Given the description of an element on the screen output the (x, y) to click on. 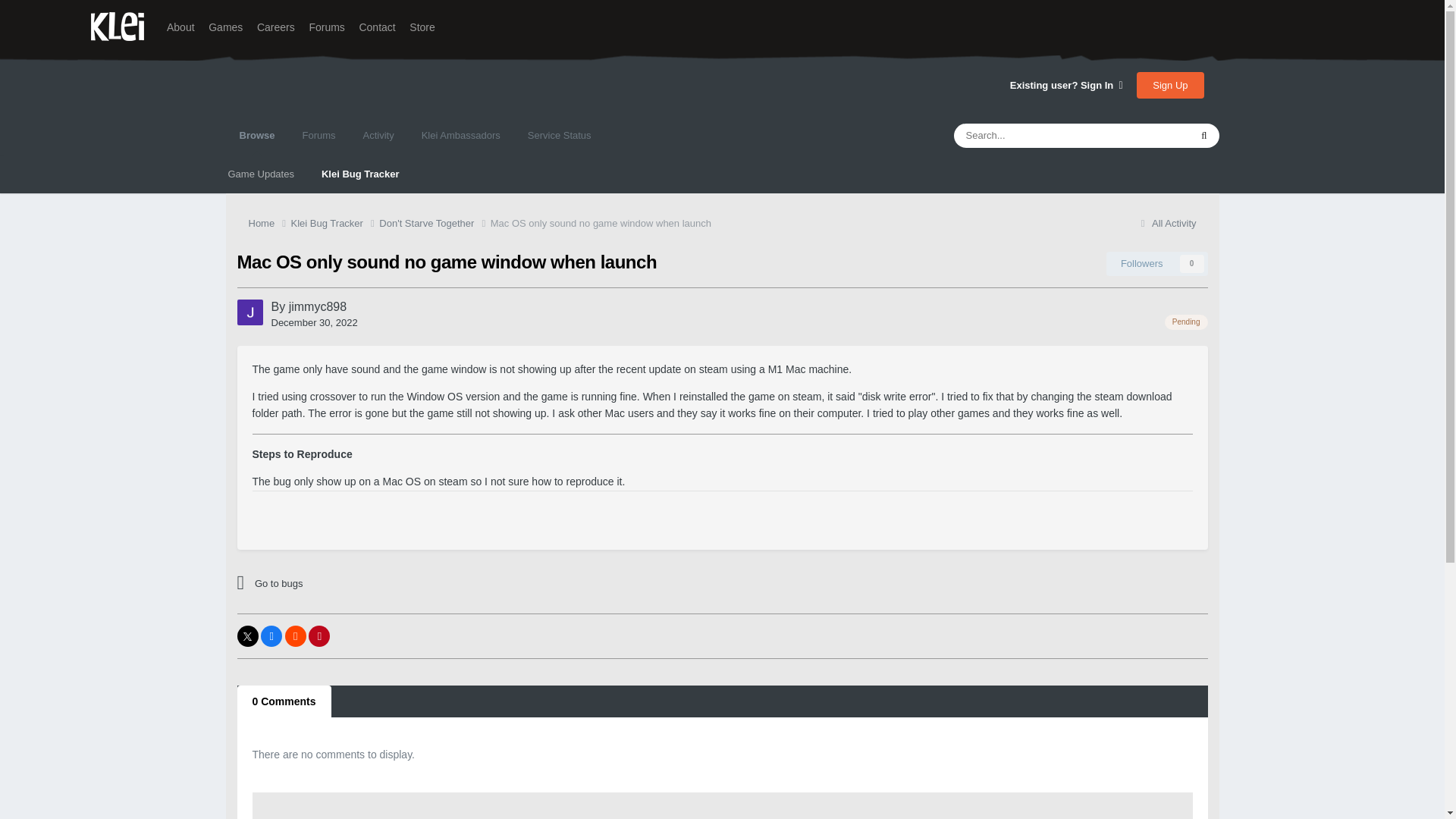
Share on Pinterest (319, 636)
Game Updates (260, 174)
About (181, 27)
Sign Up (1170, 85)
0 Comments (282, 701)
Go to jimmyc898's profile (317, 306)
Forums (325, 27)
Browse (256, 135)
Store (421, 27)
Games (225, 27)
Klei Ambassadors (460, 135)
Service Status (559, 135)
Careers (276, 27)
Home (269, 223)
Klei Entertainment (117, 26)
